Given the description of an element on the screen output the (x, y) to click on. 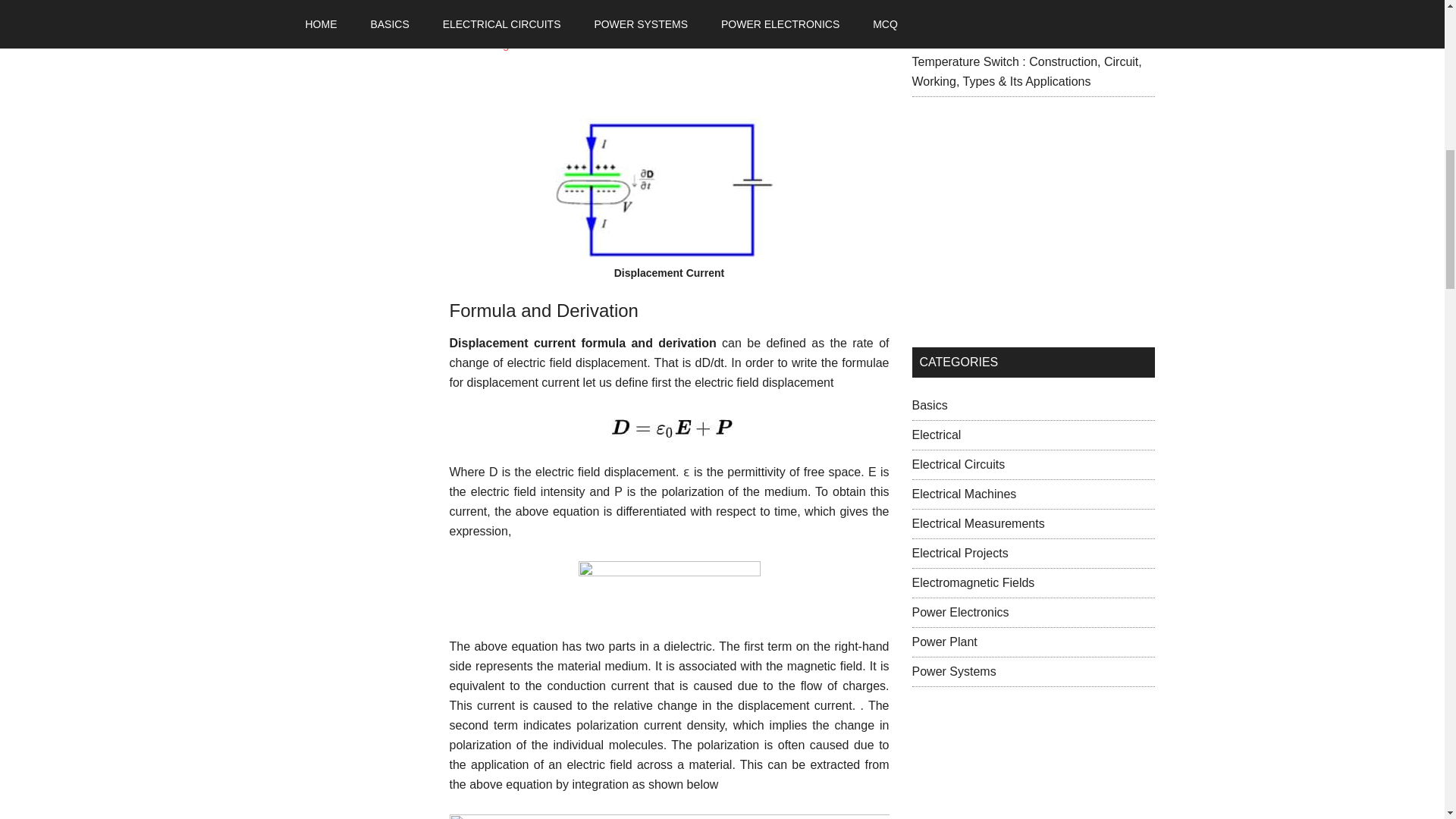
Electromagnetic Fields (972, 582)
Electrical Measurements (977, 522)
Power Plant (943, 641)
Basics (929, 404)
electromagnetism (496, 43)
Electrical Projects (959, 553)
Power Systems (953, 671)
Electrical Circuits (957, 463)
Electrical Machines (963, 493)
Power Electronics (960, 612)
